Given the description of an element on the screen output the (x, y) to click on. 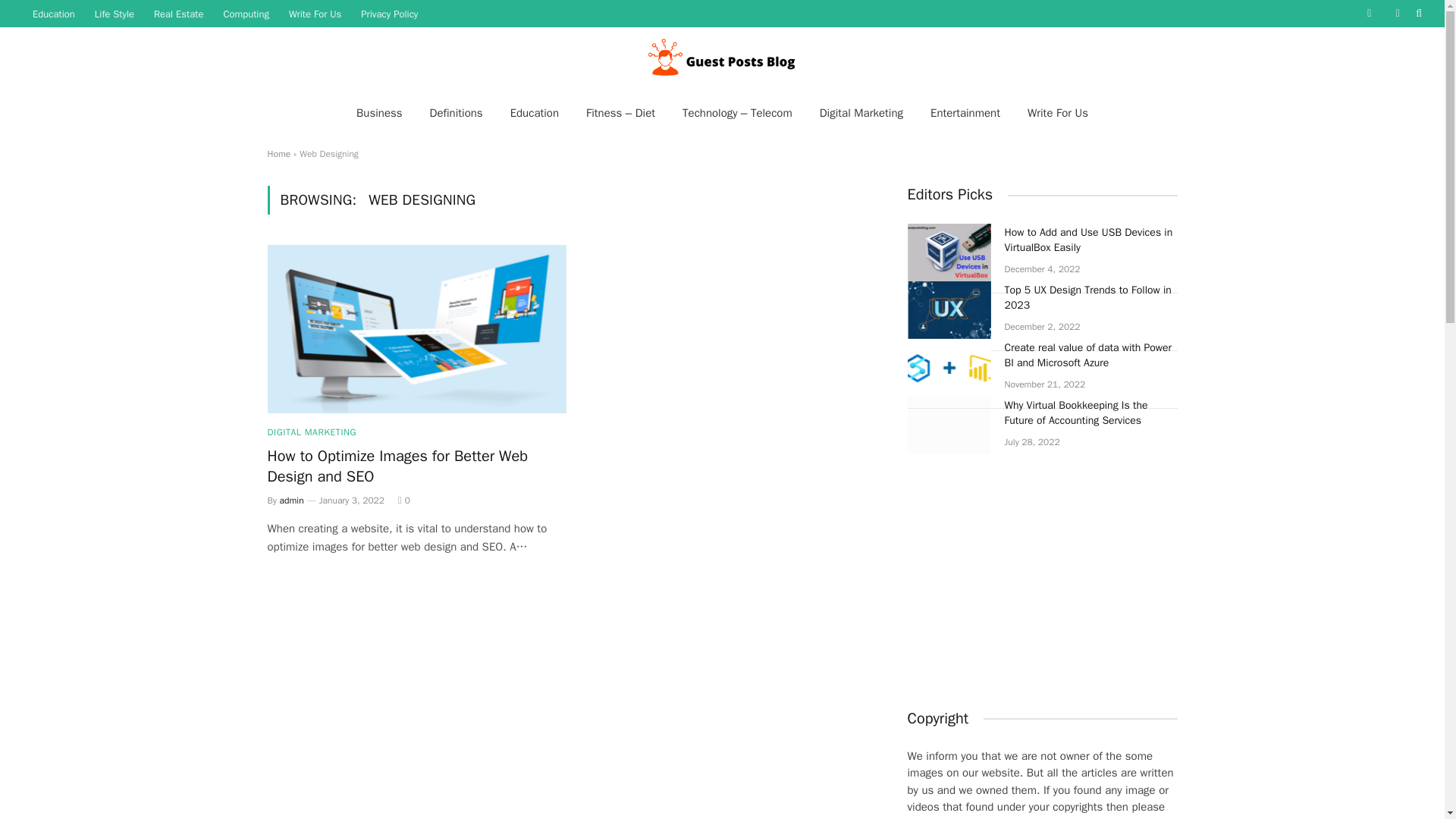
Switch to Dark Design - easier on eyes. (1397, 13)
How to Add and Use USB Devices in VirtualBox Easily (948, 252)
Posts by admin (291, 500)
guestpostsblog (722, 59)
admin (291, 500)
0 (403, 500)
Real Estate (178, 13)
DIGITAL MARKETING (311, 431)
How to Optimize Images for Better Web Design and SEO (416, 465)
Business (379, 112)
Entertainment (965, 112)
How to Optimize Images for Better Web Design and SEO (416, 328)
Home (277, 153)
Life Style (114, 13)
Write For Us (1057, 112)
